Given the description of an element on the screen output the (x, y) to click on. 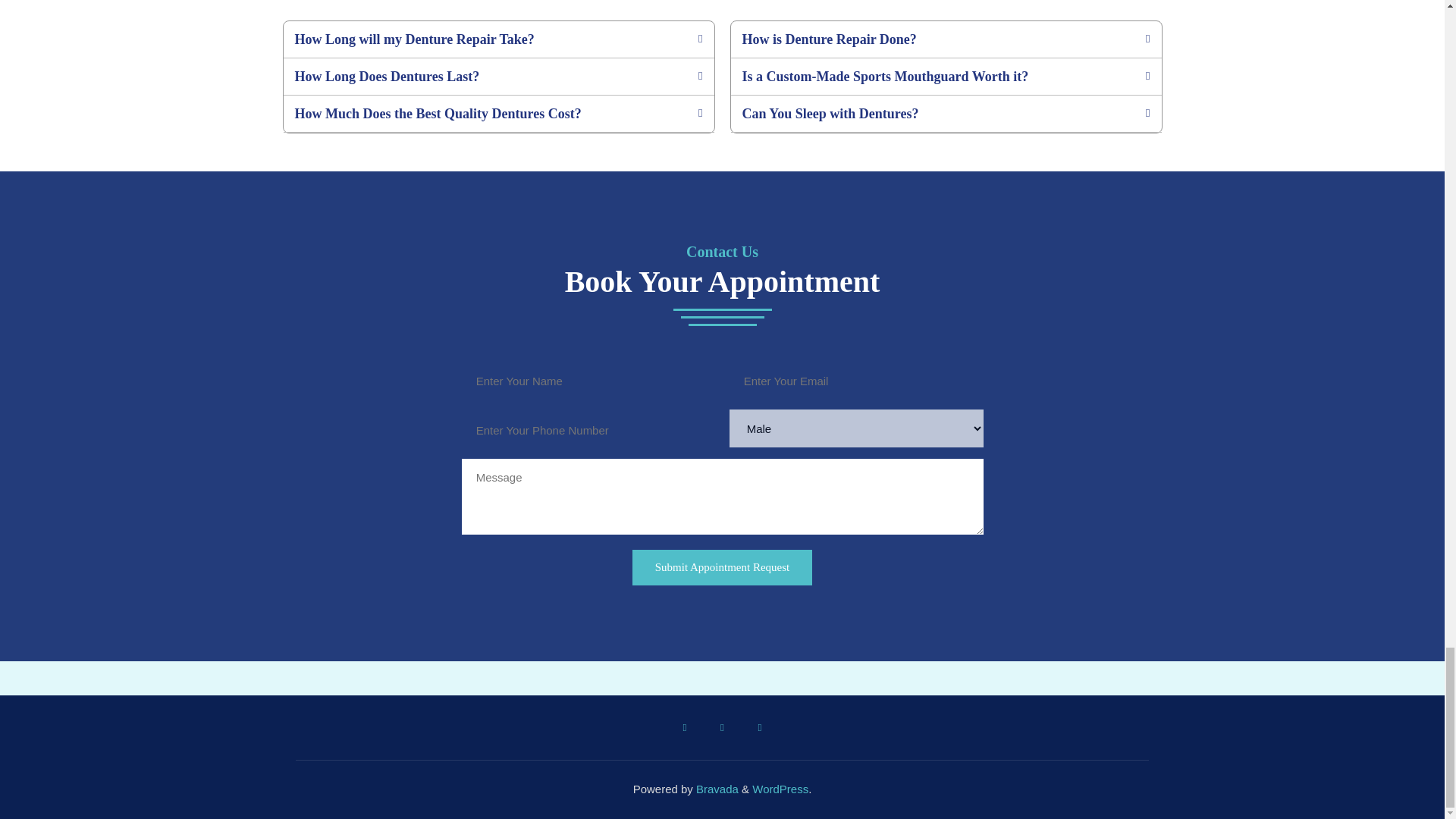
How is Denture Repair Done? (828, 38)
How Much Does the Best Quality Dentures Cost? (437, 113)
How Long will my Denture Repair Take? (414, 38)
Submit Appointment Request (721, 567)
Semantic Personal Publishing Platform (780, 788)
Is a Custom-Made Sports Mouthguard Worth it? (884, 76)
How Long Does Dentures Last? (386, 76)
Bravada WordPress Theme by Cryout Creations (715, 788)
